Given the description of an element on the screen output the (x, y) to click on. 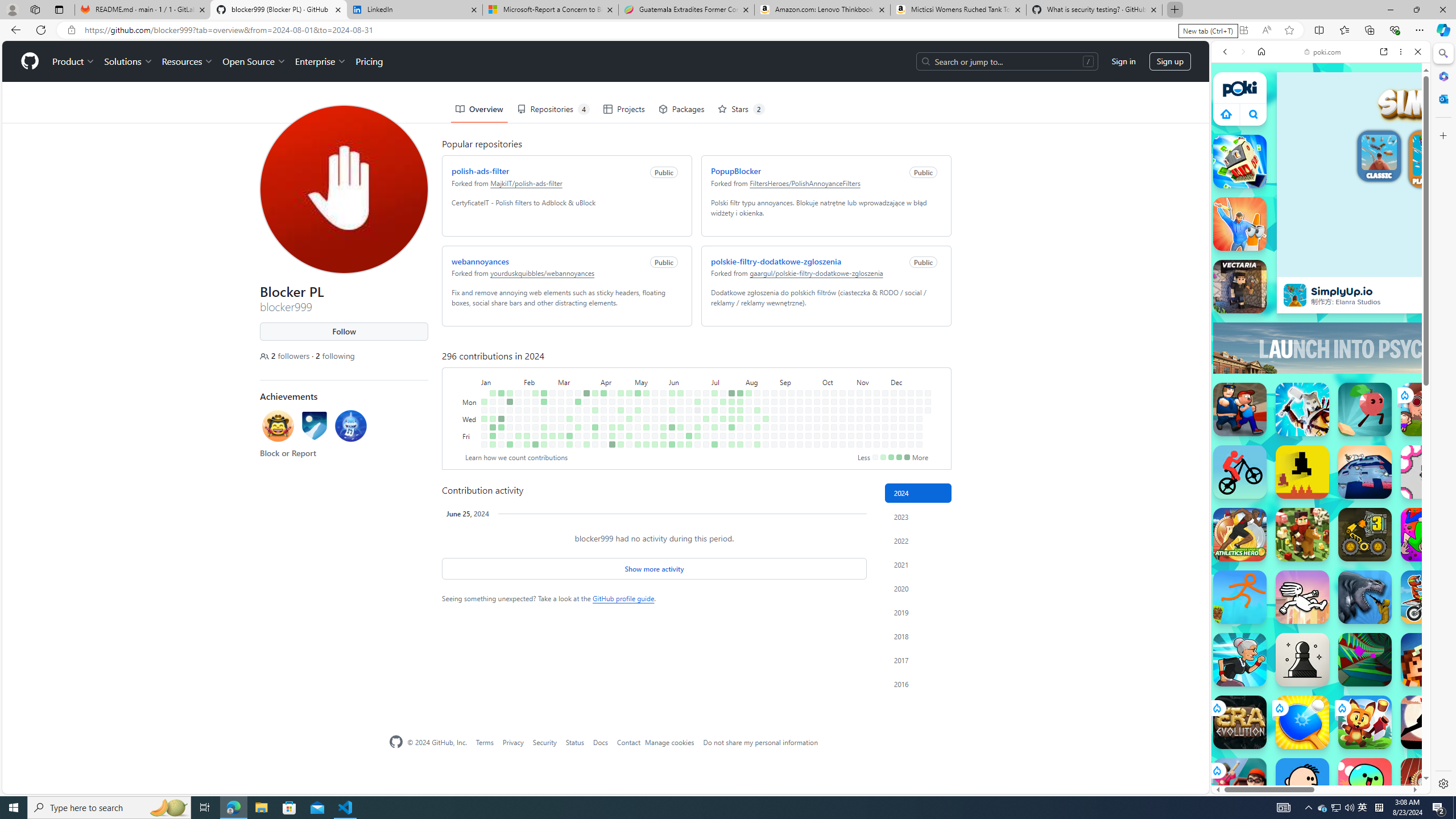
23 contributions on January 22nd. (509, 401)
No contributions on February 26th. (552, 401)
1 contribution on February 22nd. (543, 427)
No contributions on May 13th. (646, 401)
No contributions on October 24th. (842, 427)
No contributions on January 6th. (483, 444)
6 contributions on June 8th. (671, 444)
Solutions (128, 60)
No contributions on October 6th. (825, 392)
No contributions on March 5th. (560, 410)
